Given the description of an element on the screen output the (x, y) to click on. 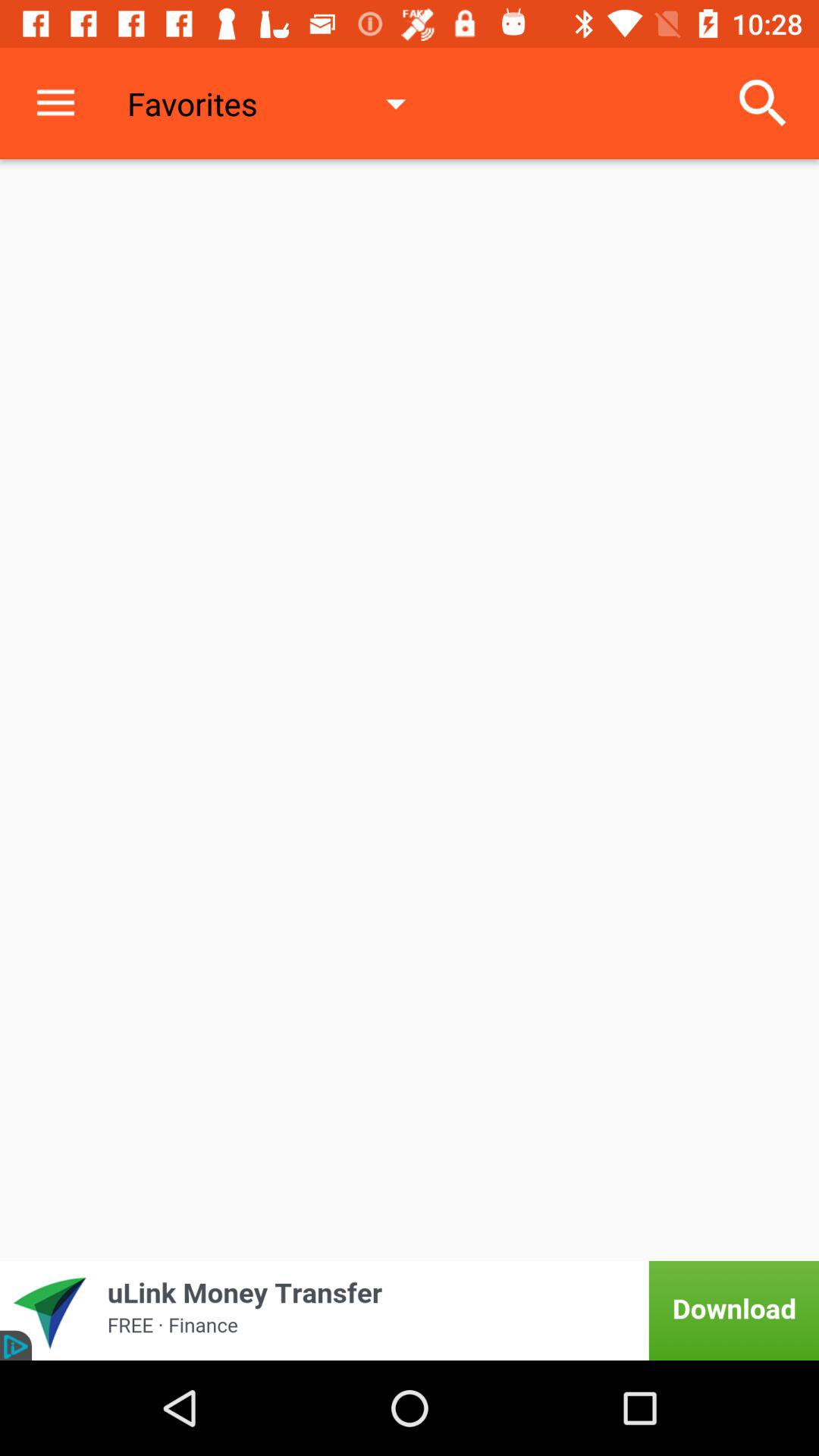
app advertisement (409, 1310)
